Given the description of an element on the screen output the (x, y) to click on. 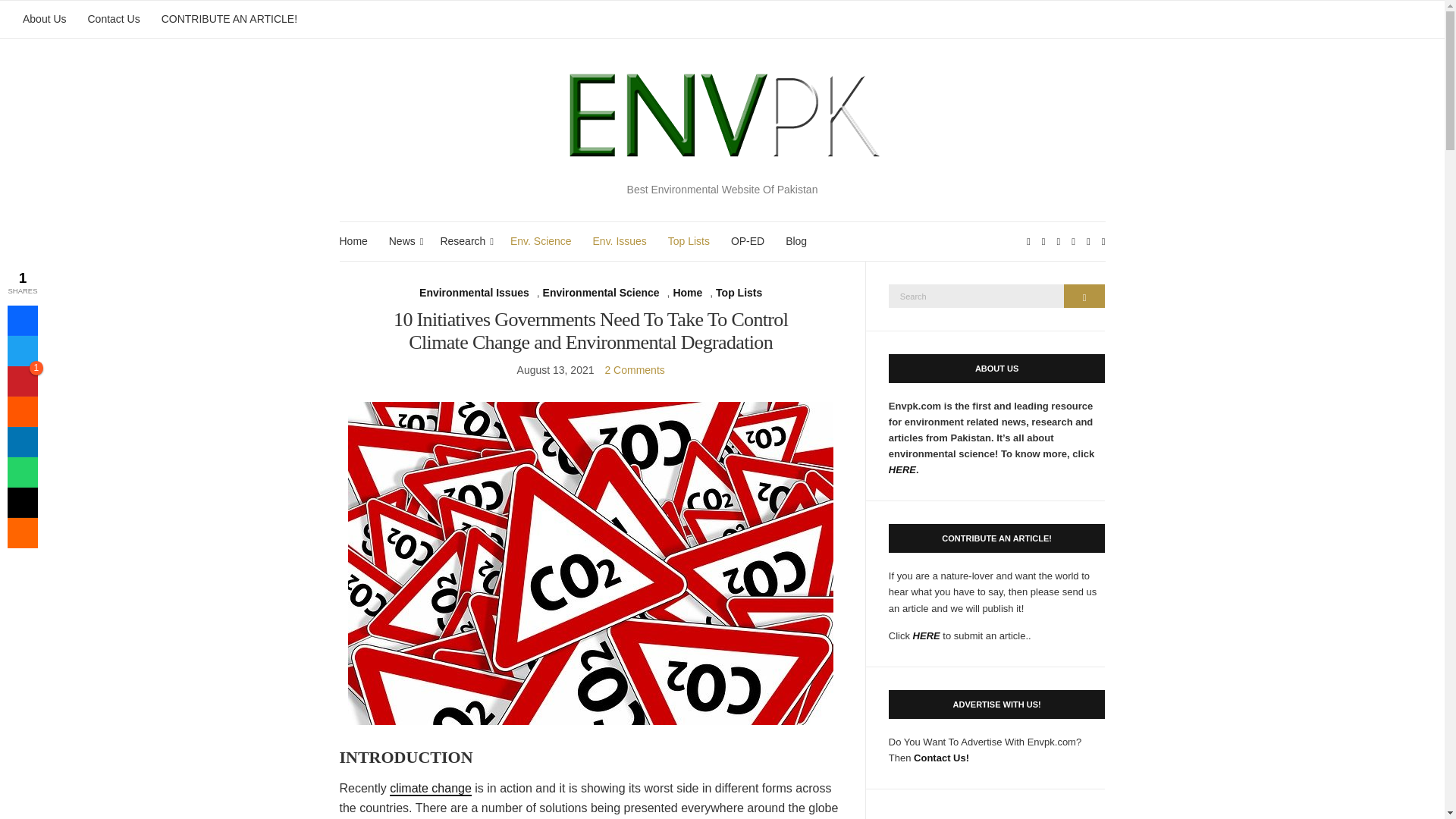
Blog (796, 241)
Env. Issues (619, 241)
Env. Science (541, 241)
WhatsApp (22, 472)
About Us (44, 18)
More share links (22, 532)
Top Lists (689, 241)
Tweet this ! (22, 350)
Environmental Issues (474, 293)
Submit this to Reddit (22, 411)
News (403, 241)
Email this  (22, 502)
Share this on Facebook (22, 320)
Expand search form (1103, 241)
Add this to LinkedIn (22, 441)
